Given the description of an element on the screen output the (x, y) to click on. 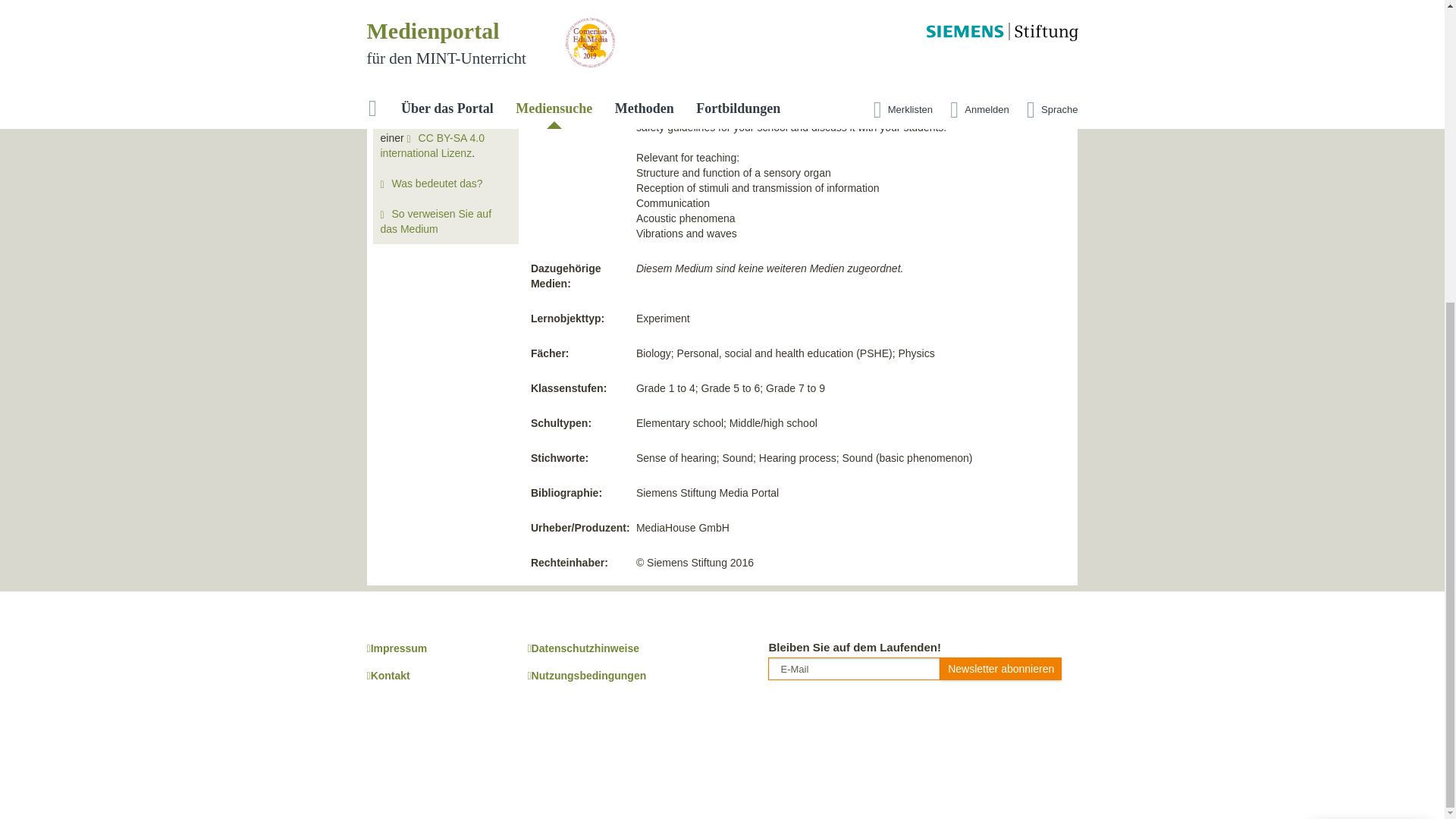
Datenschutzhinweise (583, 648)
CC BY-SA 4.0 international Lizenz (432, 144)
Nutzungsbedingungen (586, 675)
So verweisen Sie auf das Medium (436, 221)
Was bedeutet das? (436, 183)
Kontakt (388, 675)
Creative Commons Logo (418, 98)
Impressum (397, 648)
Newsletter abonnieren (1000, 668)
